Given the description of an element on the screen output the (x, y) to click on. 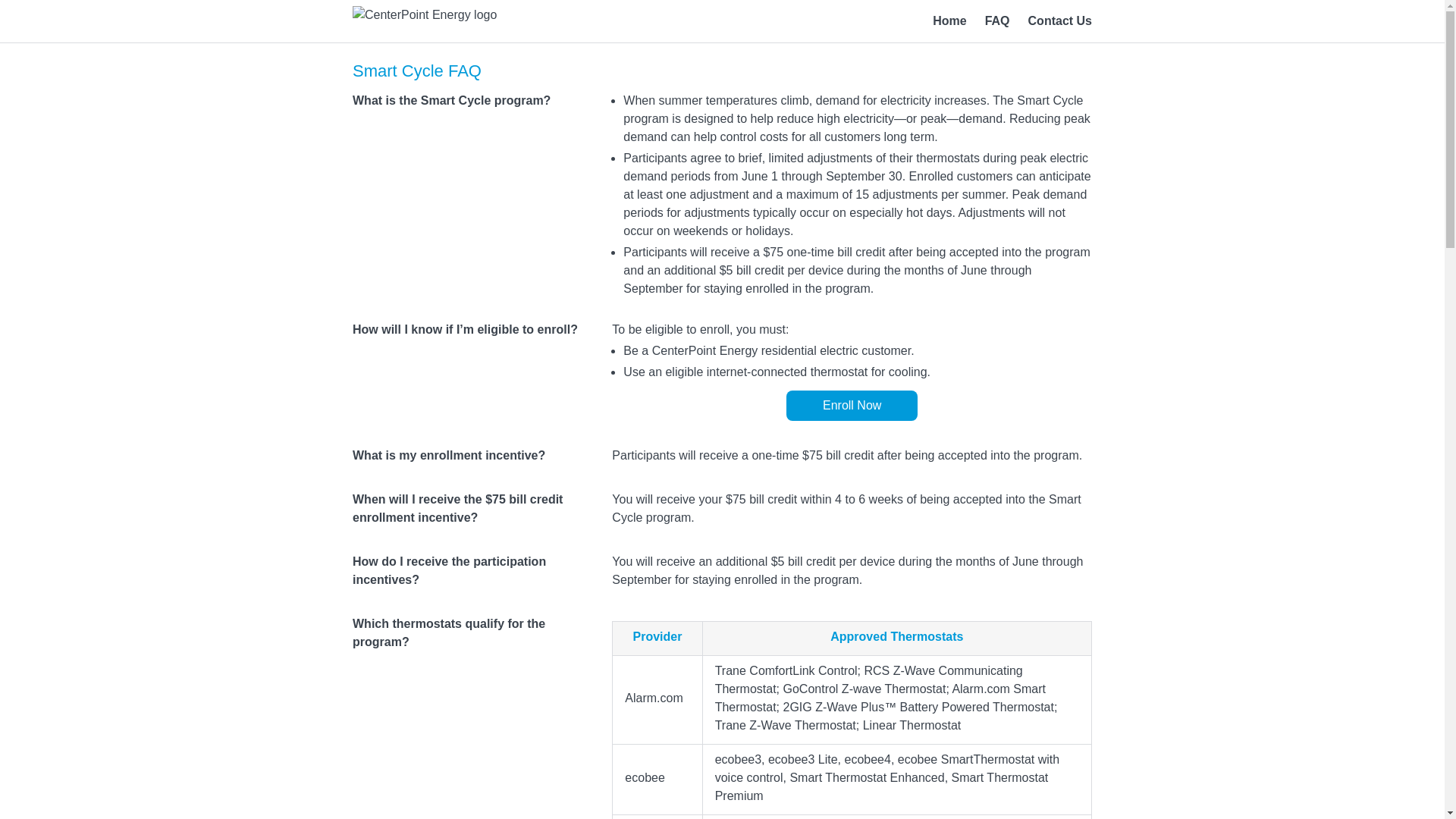
Contact Us (1059, 20)
FAQ (997, 20)
Home (949, 20)
Enroll Now (851, 405)
